Given the description of an element on the screen output the (x, y) to click on. 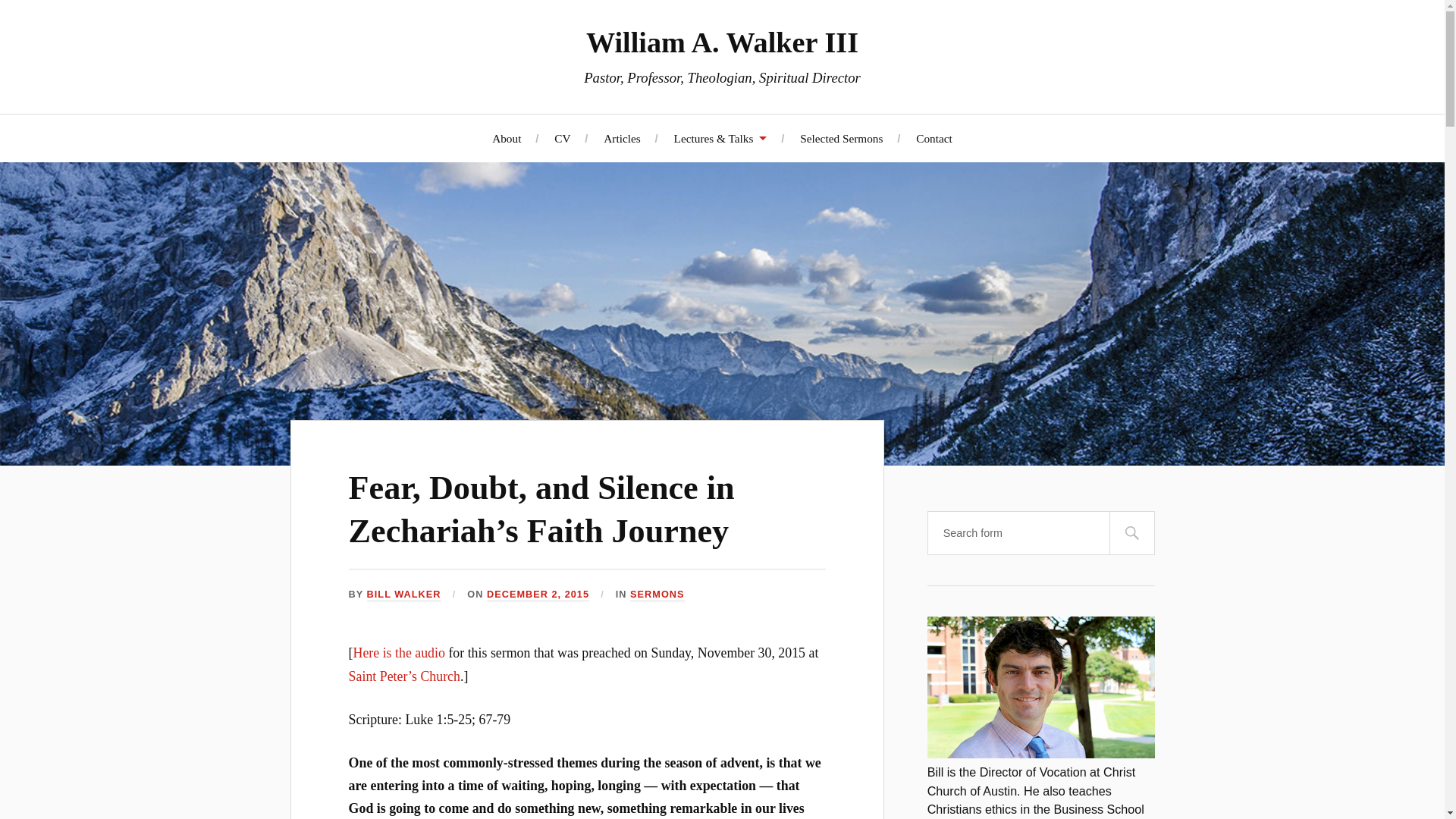
Posts by Bill Walker (403, 594)
DECEMBER 2, 2015 (537, 594)
Here is the audio (399, 652)
BILL WALKER (403, 594)
SERMONS (657, 594)
William A. Walker III (722, 42)
Selected Sermons (840, 137)
